Given the description of an element on the screen output the (x, y) to click on. 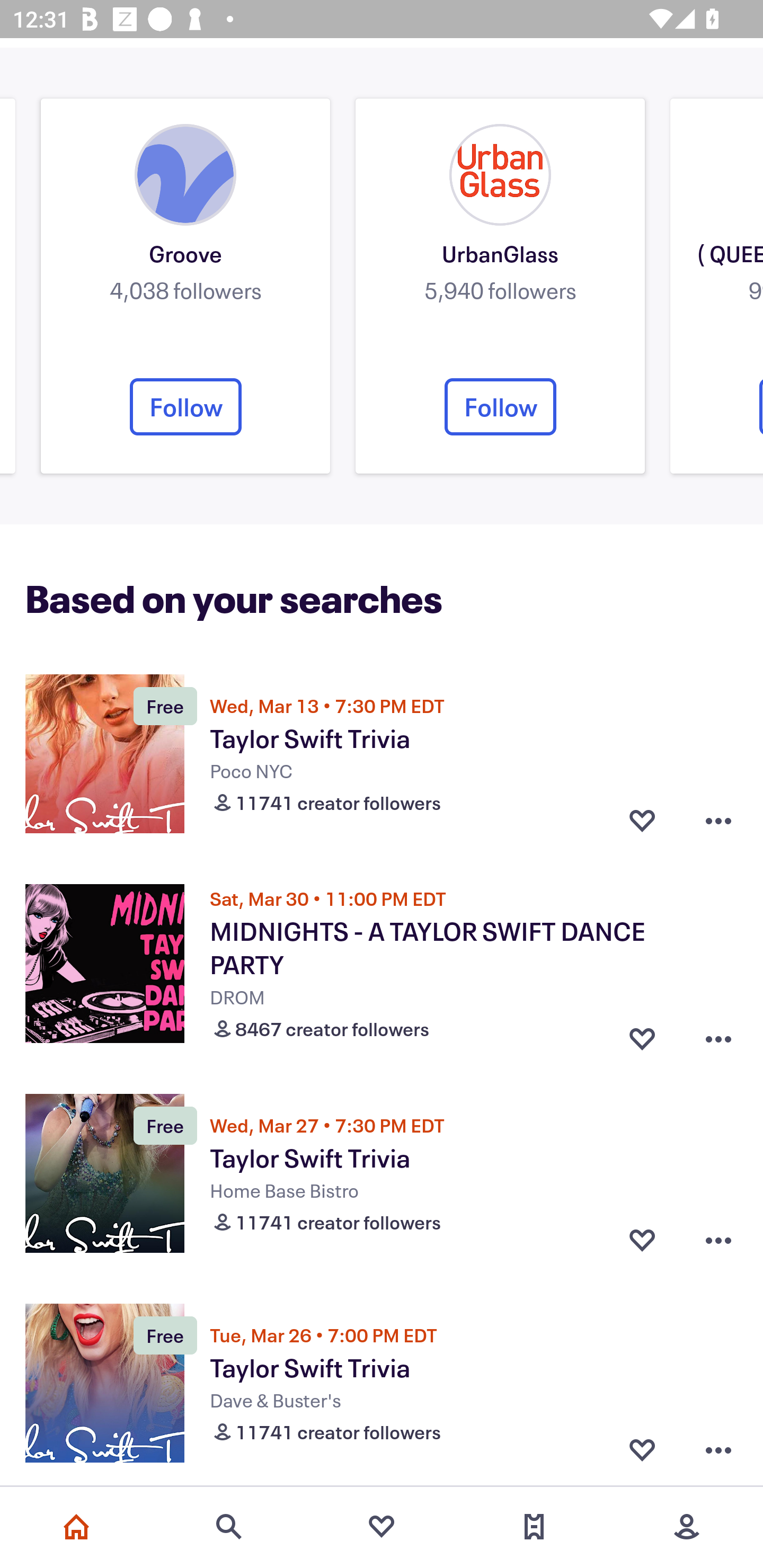
Follow Organizer's follow button (185, 406)
Follow Organizer's follow button (500, 406)
Favorite button (642, 820)
Overflow menu button (718, 820)
Favorite button (642, 1034)
Overflow menu button (718, 1034)
Favorite button (642, 1239)
Overflow menu button (718, 1239)
Favorite button (642, 1450)
Overflow menu button (718, 1450)
Home (76, 1526)
Search events (228, 1526)
Favorites (381, 1526)
Tickets (533, 1526)
More (686, 1526)
